Given the description of an element on the screen output the (x, y) to click on. 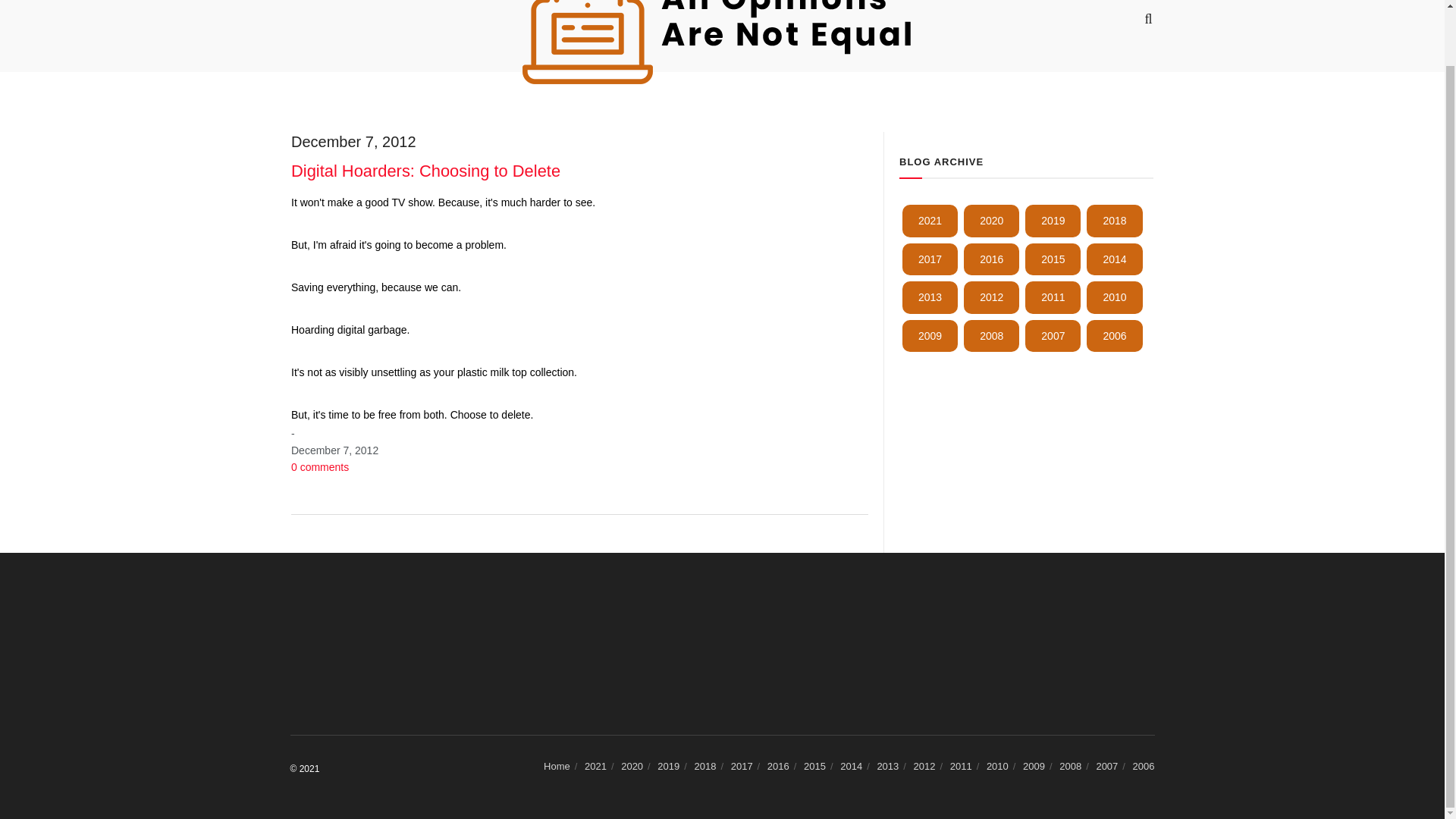
2020 (991, 220)
2019 (1052, 220)
2017 (930, 259)
0 comments (320, 467)
2013 (930, 296)
2016 (991, 259)
2015 (1052, 259)
2012 (991, 296)
2014 (1113, 259)
Digital Hoarders: Choosing to Delete (425, 170)
2018 (1113, 220)
2021 (930, 220)
2011 (1052, 296)
